Given the description of an element on the screen output the (x, y) to click on. 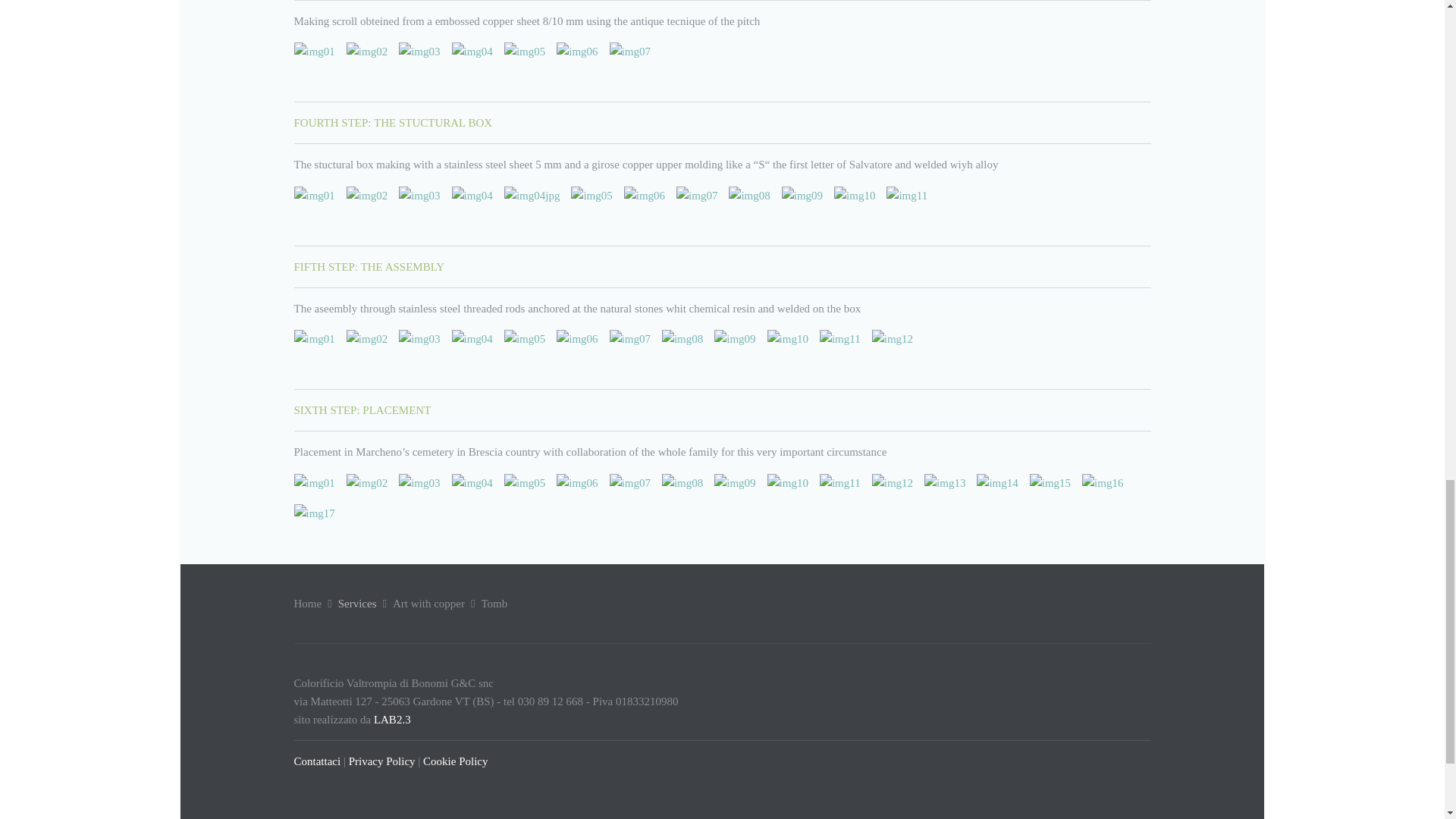
Privacy Policy (381, 761)
